Given the description of an element on the screen output the (x, y) to click on. 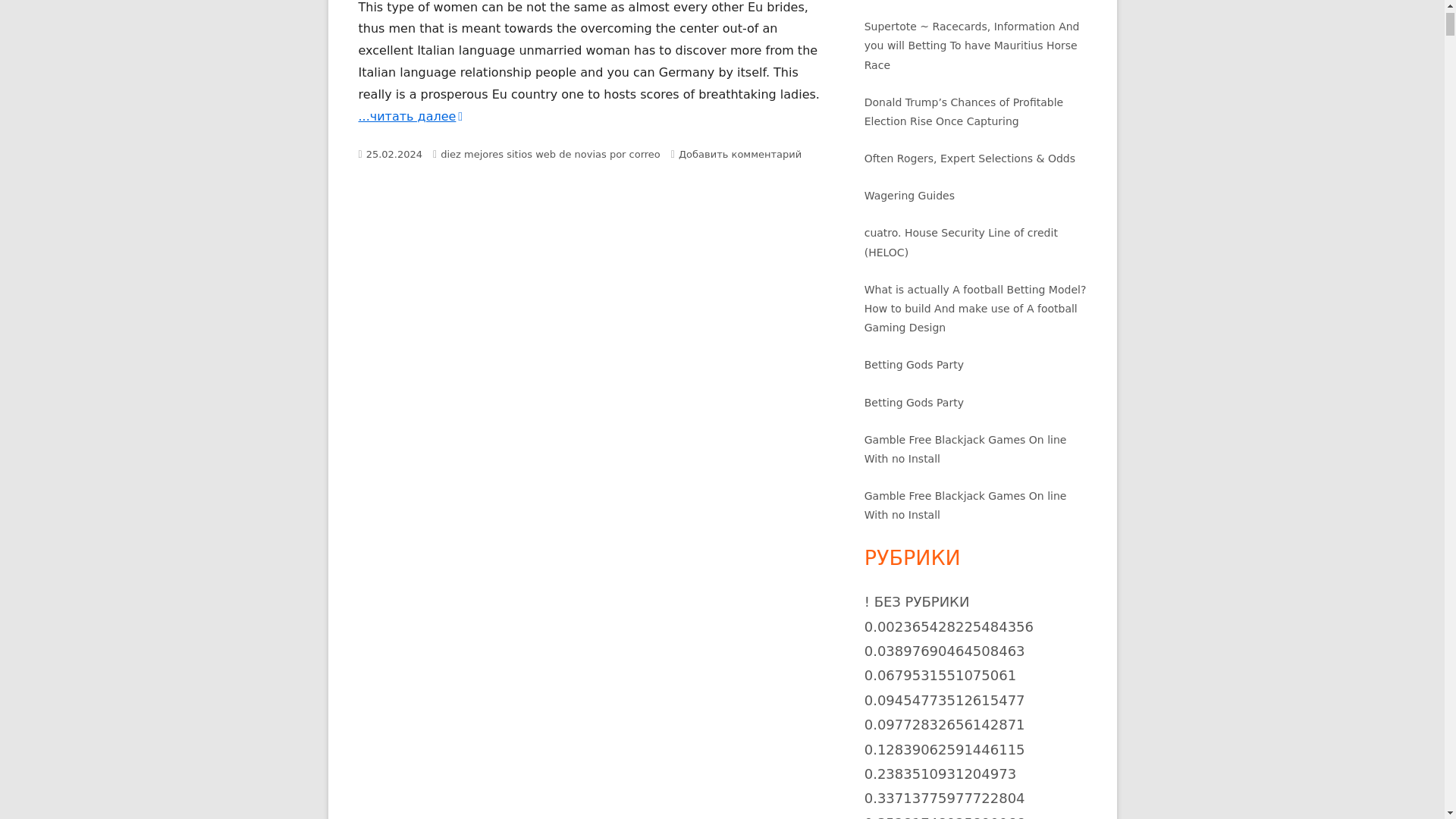
Gamble Free Blackjack Games On line With no Install (965, 449)
Betting Gods Party (913, 402)
Betting Gods Party (913, 364)
25.02.2024 (394, 153)
Wagering Guides (909, 195)
diez mejores sitios web de novias por correo (551, 153)
